Given the description of an element on the screen output the (x, y) to click on. 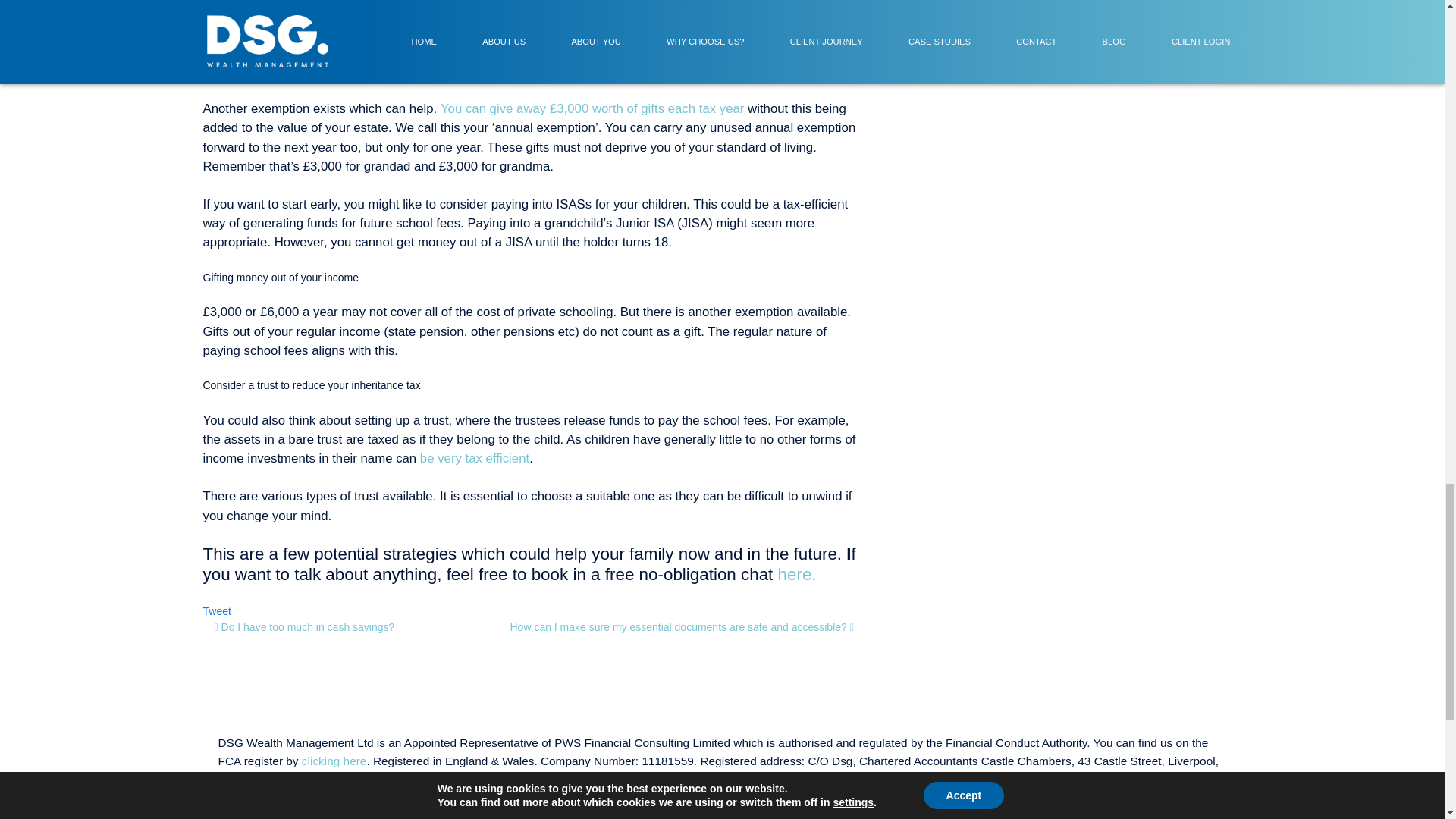
be very tax efficient (474, 458)
relief (382, 3)
here. (796, 574)
Tweet (217, 611)
